Given the description of an element on the screen output the (x, y) to click on. 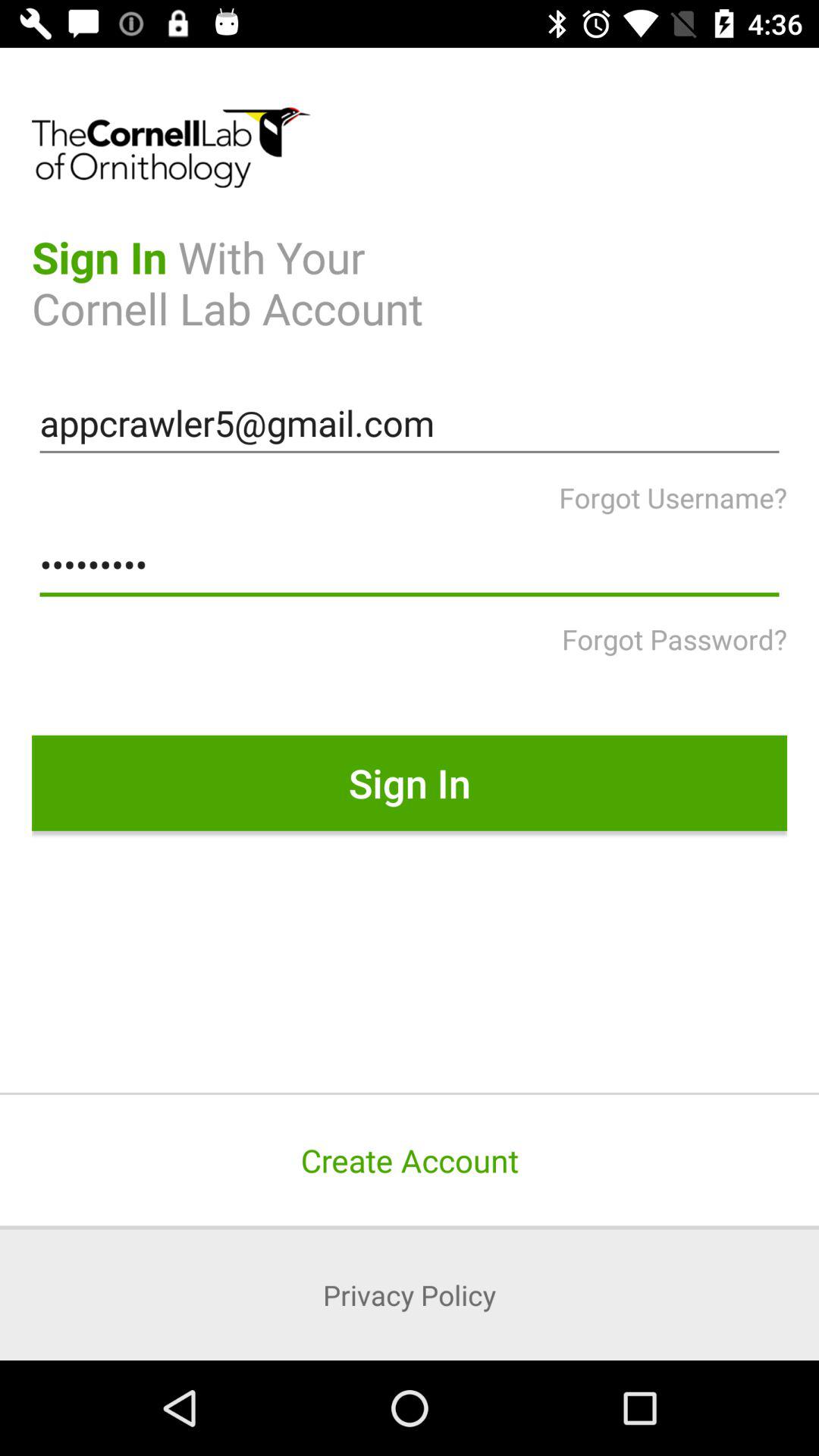
click item below the forgot username? icon (409, 565)
